Given the description of an element on the screen output the (x, y) to click on. 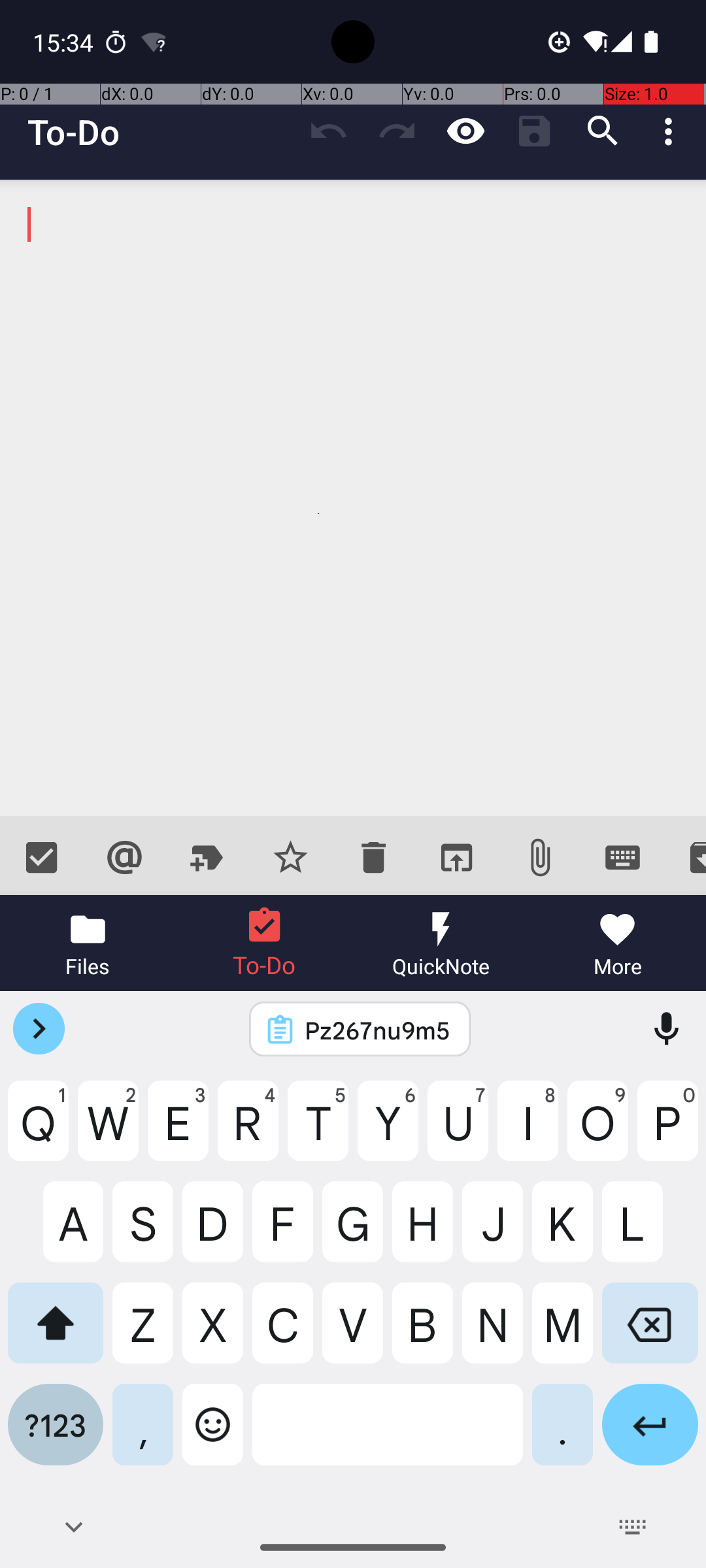
Pz267nu9m5 Element type: android.widget.TextView (376, 1029)
